Given the description of an element on the screen output the (x, y) to click on. 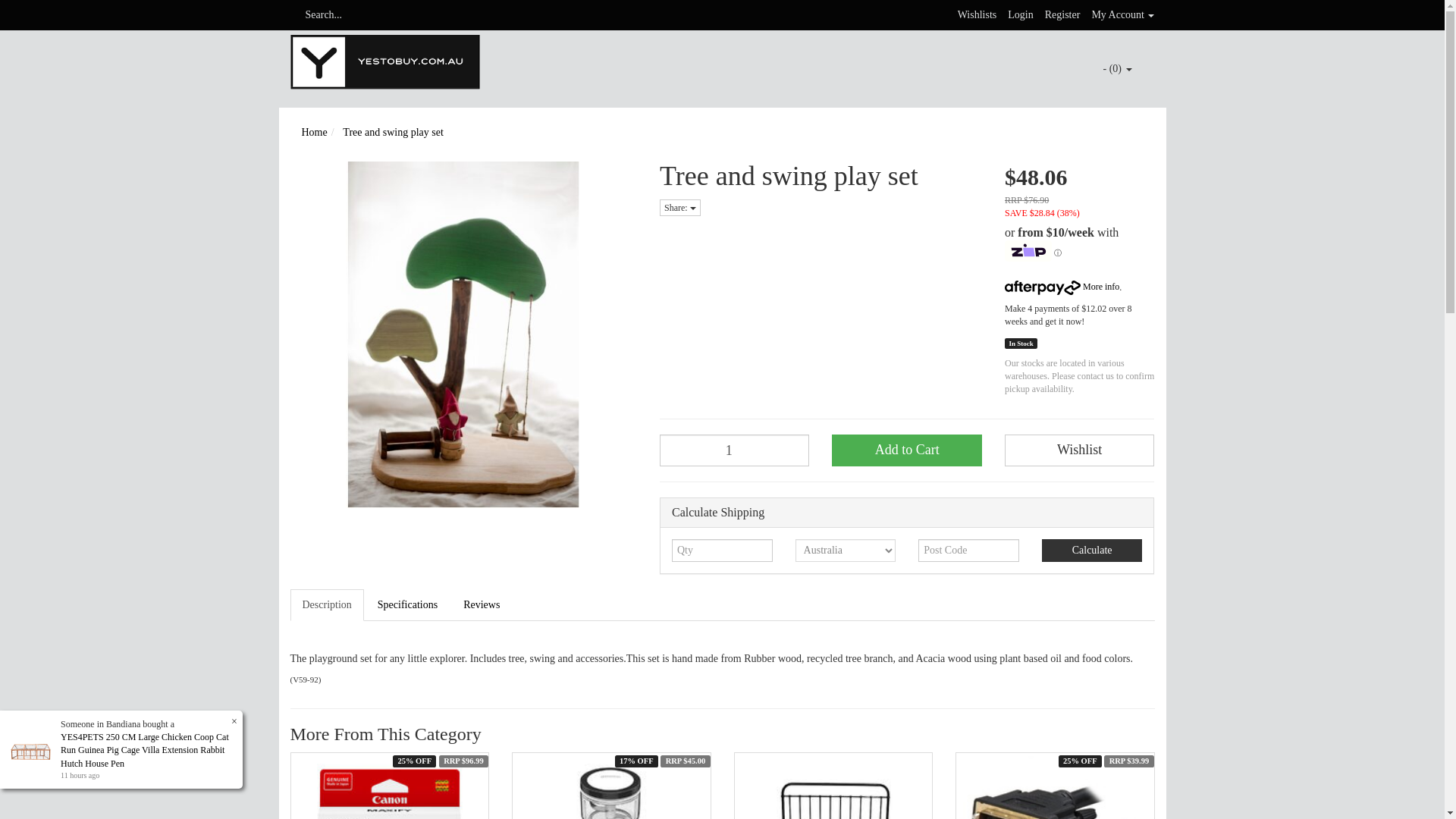
Home (314, 132)
Add To Wishlist (1079, 450)
1 (734, 450)
Register (1062, 14)
Reviews (481, 604)
My Account (1122, 14)
Wishlists (977, 14)
More info (1061, 286)
Calculate (1092, 549)
Calculate (1092, 549)
Share: (679, 207)
Search (294, 14)
Description (325, 604)
Tree and swing play set (392, 132)
Specifications (407, 604)
